Given the description of an element on the screen output the (x, y) to click on. 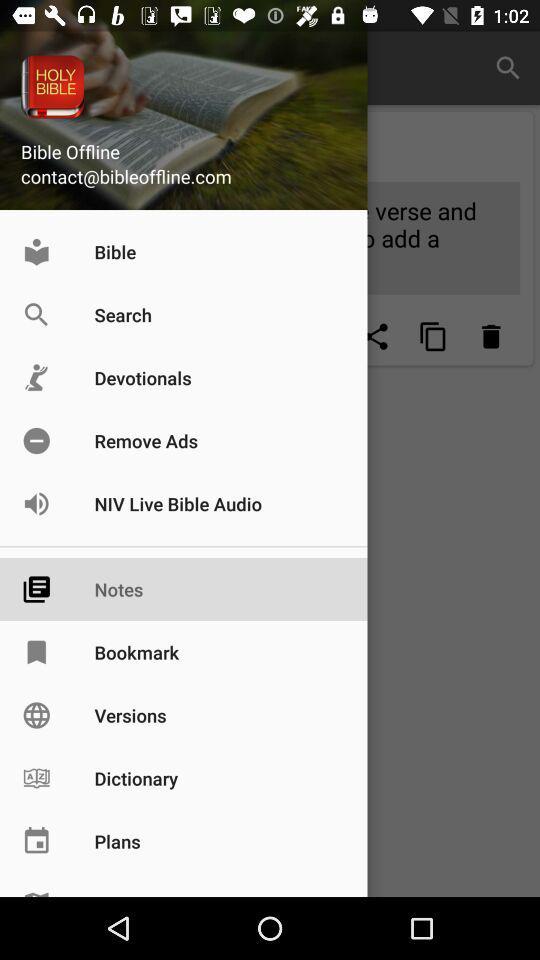
select delete icon which is at the right side of the page (491, 336)
go to share icon (376, 336)
